Given the description of an element on the screen output the (x, y) to click on. 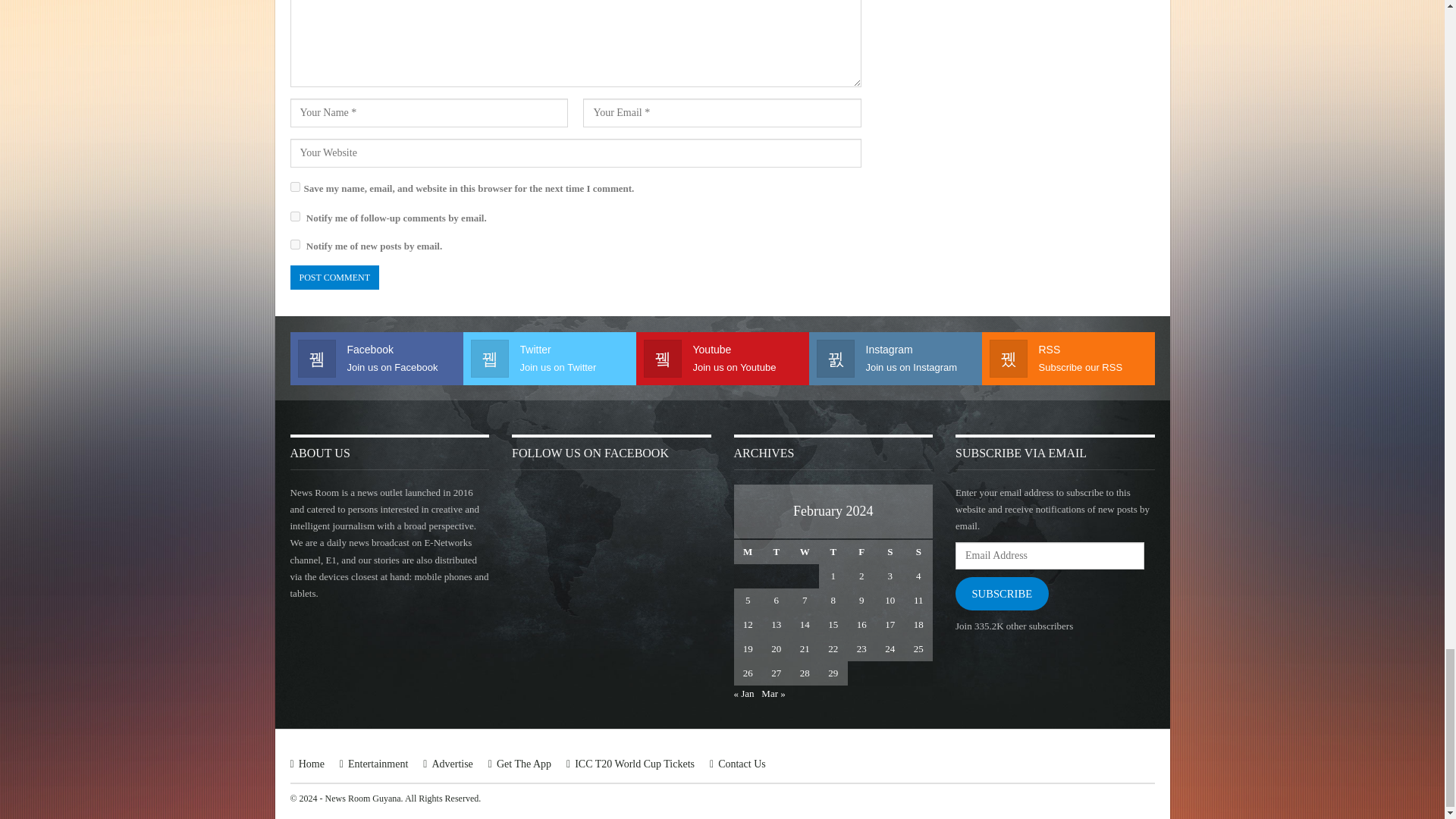
Post Comment (333, 277)
subscribe (294, 216)
yes (294, 186)
subscribe (294, 244)
